Given the description of an element on the screen output the (x, y) to click on. 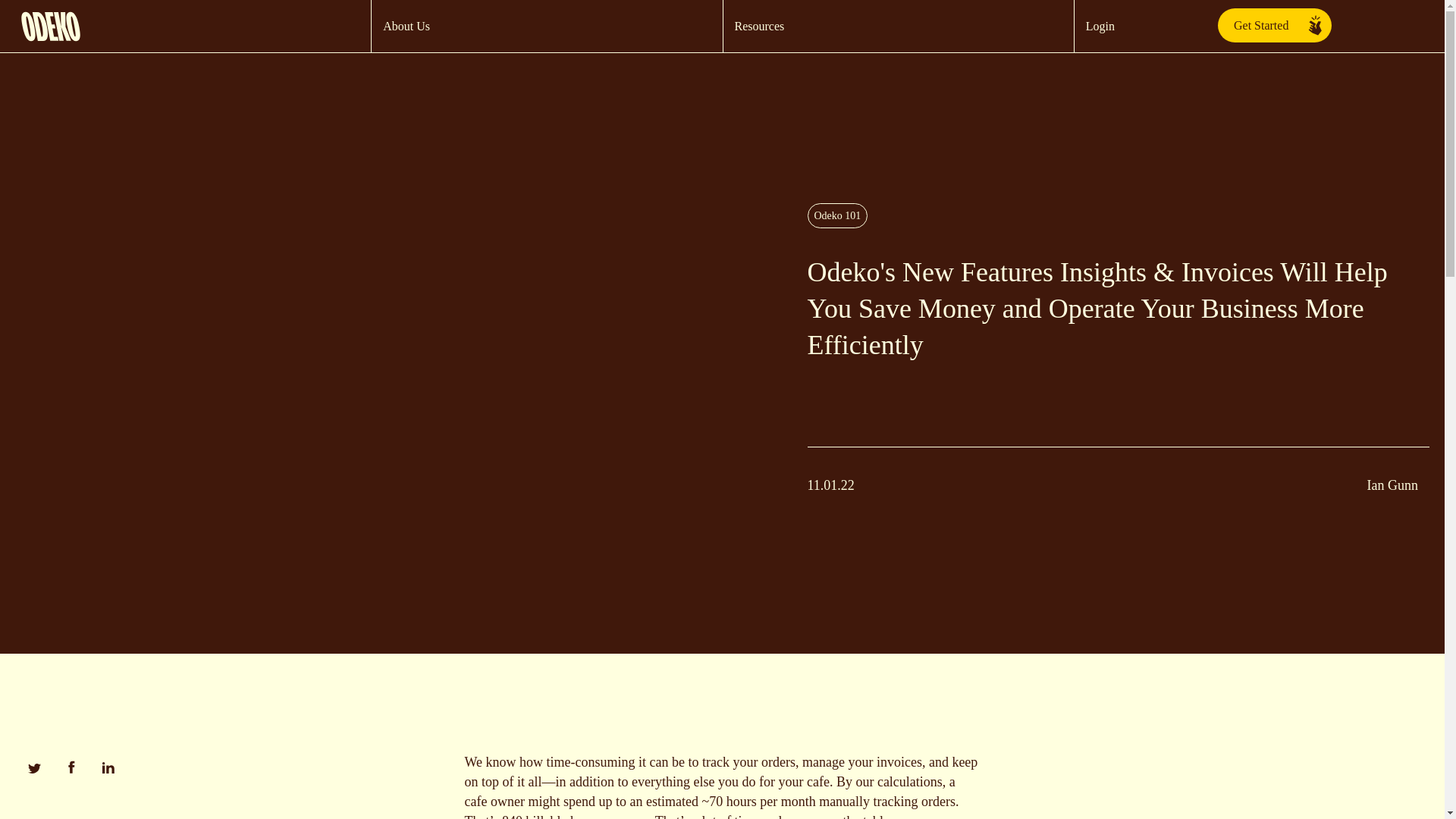
Share this on Facebook (108, 770)
Get Started (1274, 25)
Share this on Twitter (33, 770)
ODEKO (195, 23)
Resources (758, 25)
Odeko 101 (836, 215)
About Us (405, 25)
Share this on Facebook (71, 770)
